Given the description of an element on the screen output the (x, y) to click on. 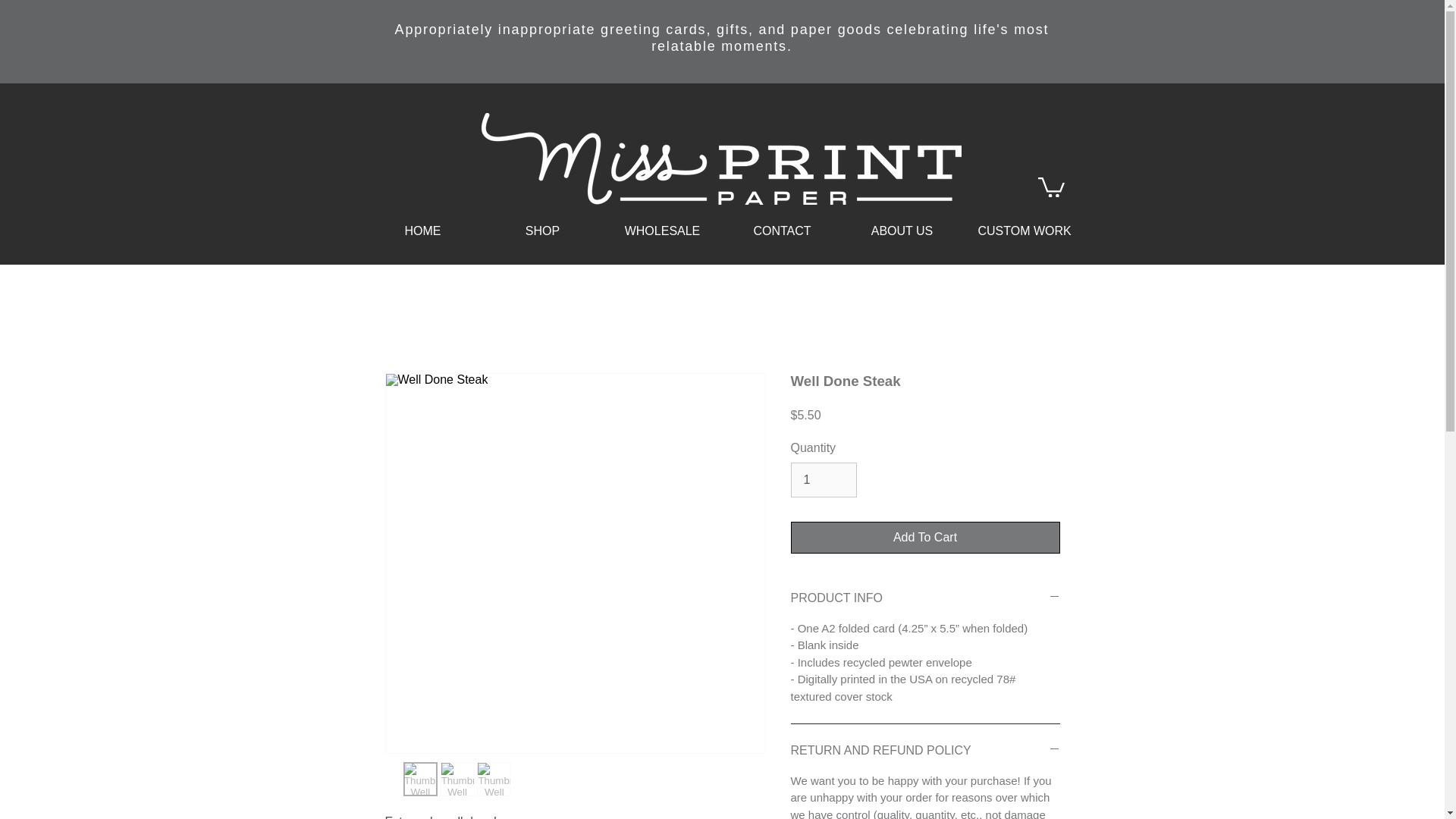
CUSTOM WORK (1020, 230)
HOME (421, 230)
Add To Cart (924, 537)
RETURN AND REFUND POLICY (924, 750)
CONTACT (781, 230)
PRODUCT INFO (924, 597)
1 (823, 479)
ABOUT US (900, 230)
WHOLESALE (662, 230)
SHOP (541, 230)
